Given the description of an element on the screen output the (x, y) to click on. 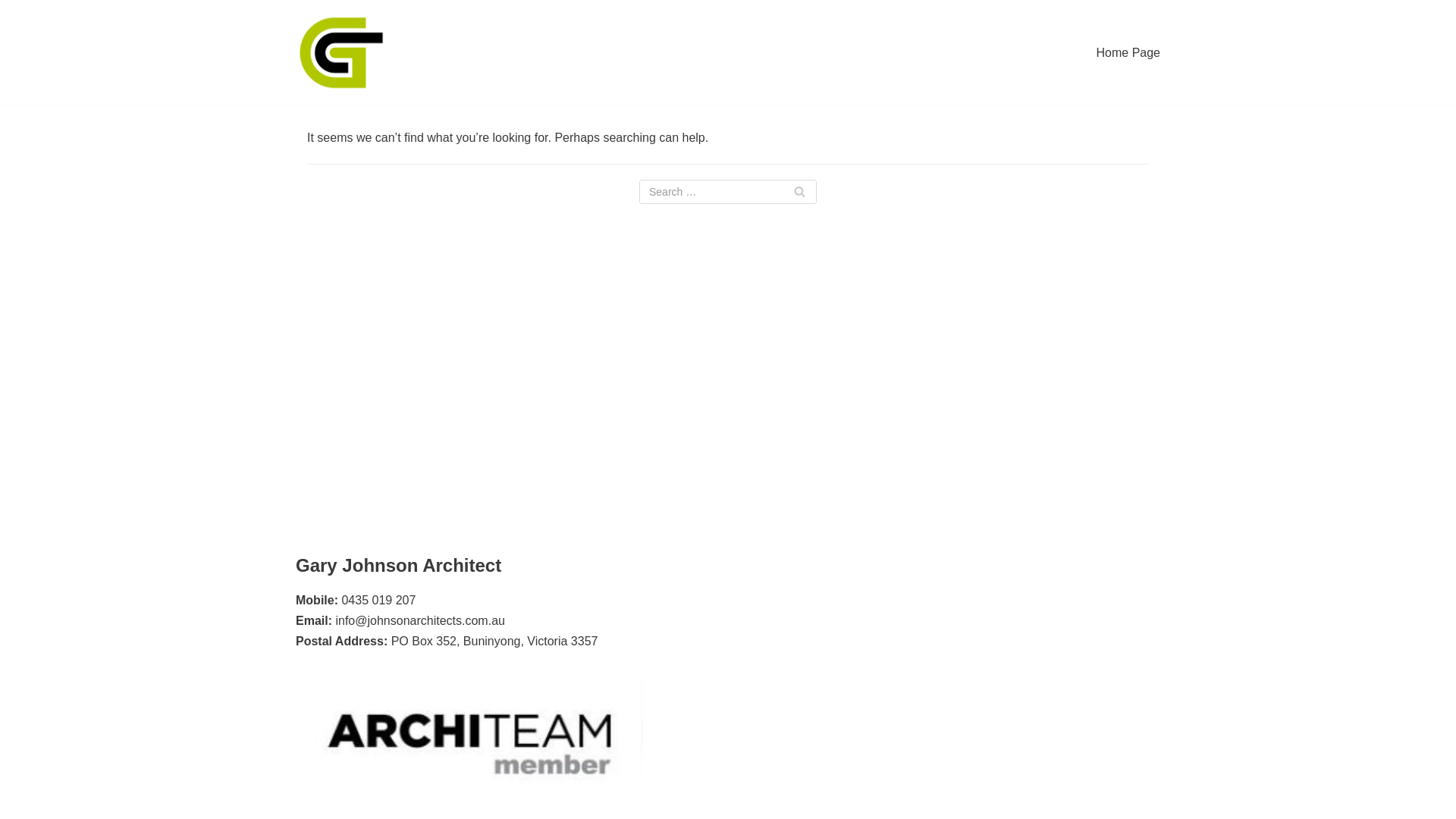
Home Page Element type: text (1128, 52)
Search Element type: text (799, 191)
Skip to content Element type: text (15, 31)
Gary Johnson Architect Element type: hover (340, 52)
